Given the description of an element on the screen output the (x, y) to click on. 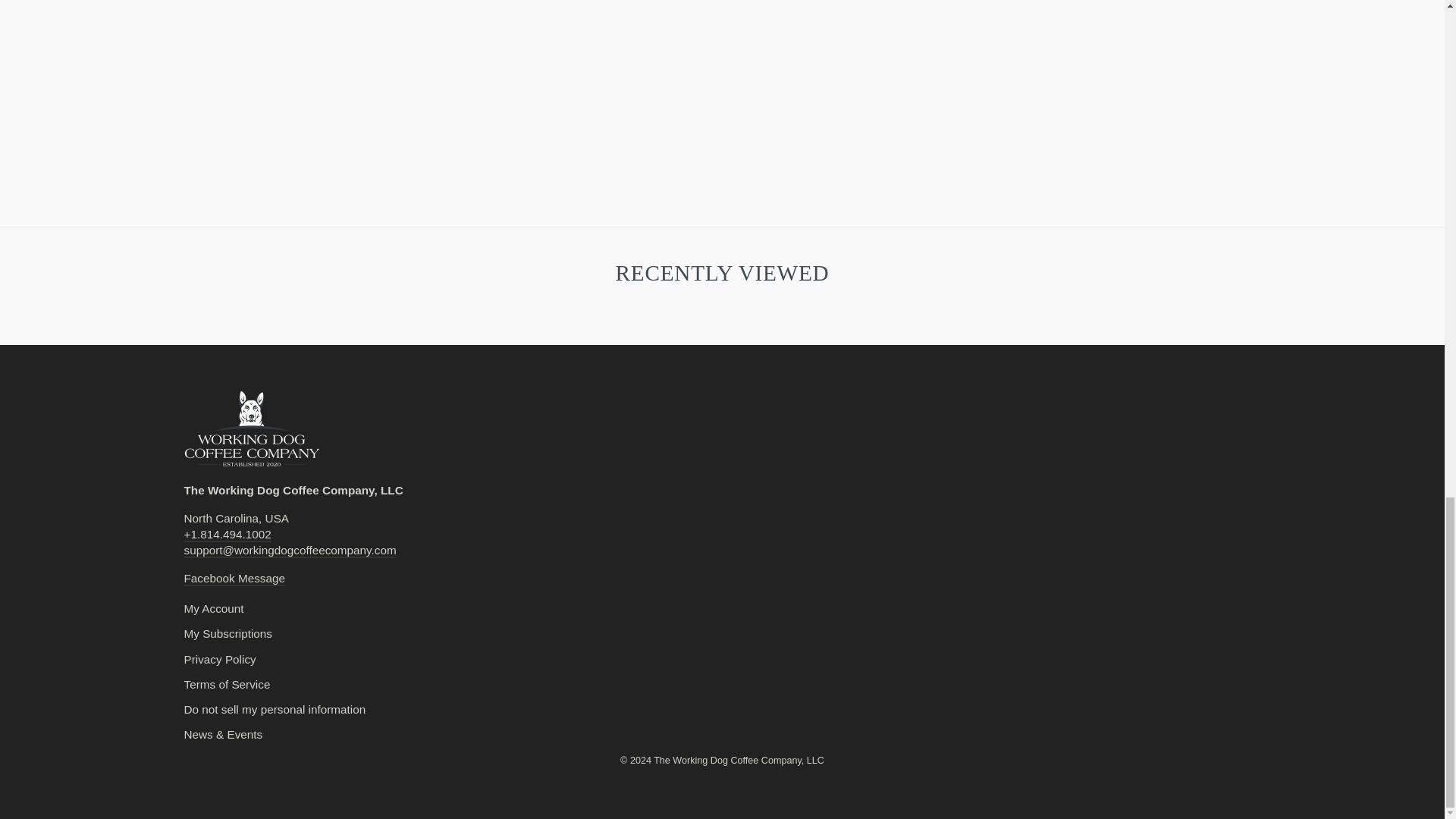
Contact Us (289, 550)
